Given the description of an element on the screen output the (x, y) to click on. 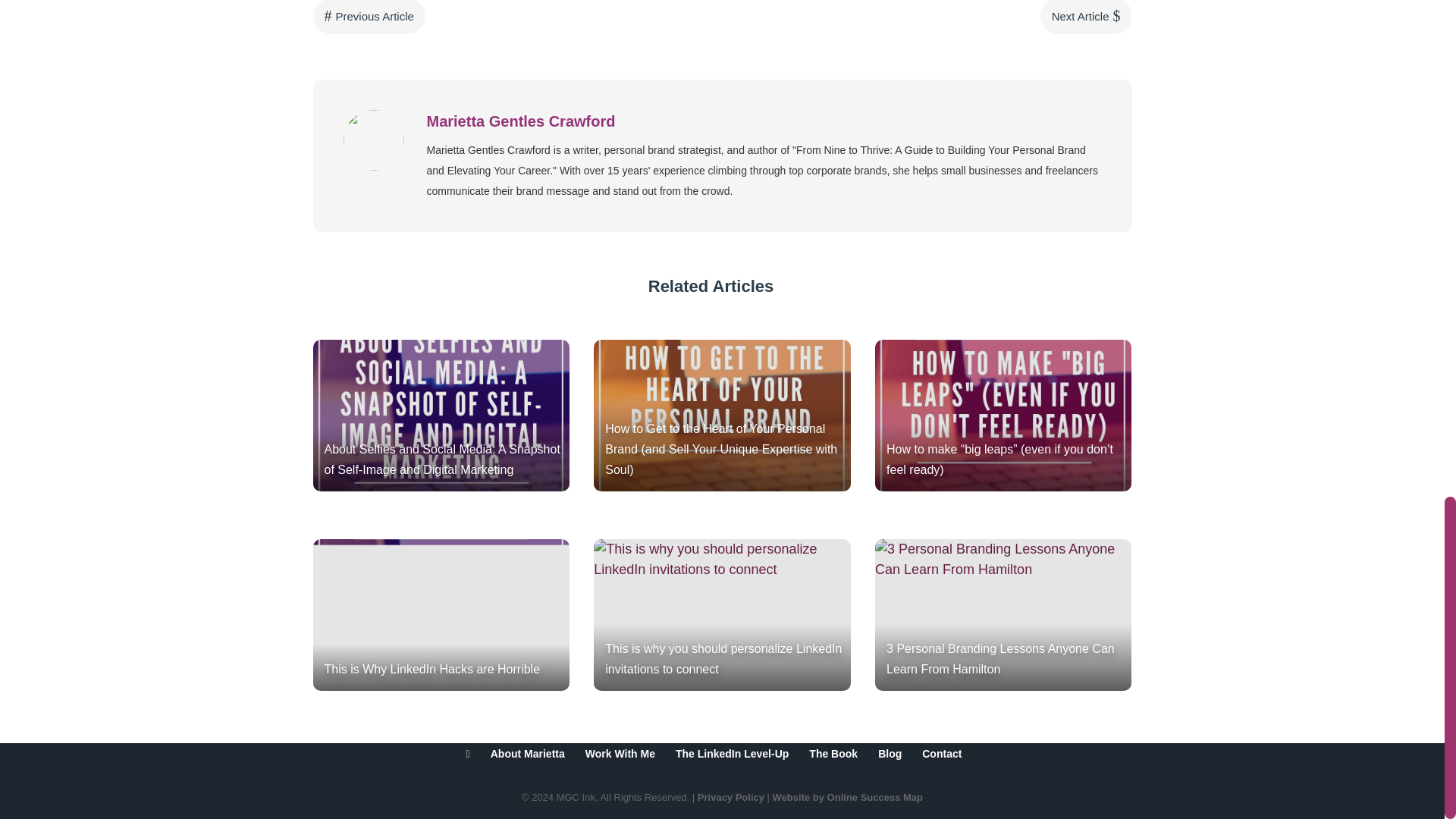
This is Why LinkedIn Hacks are Horrible (441, 614)
